Given the description of an element on the screen output the (x, y) to click on. 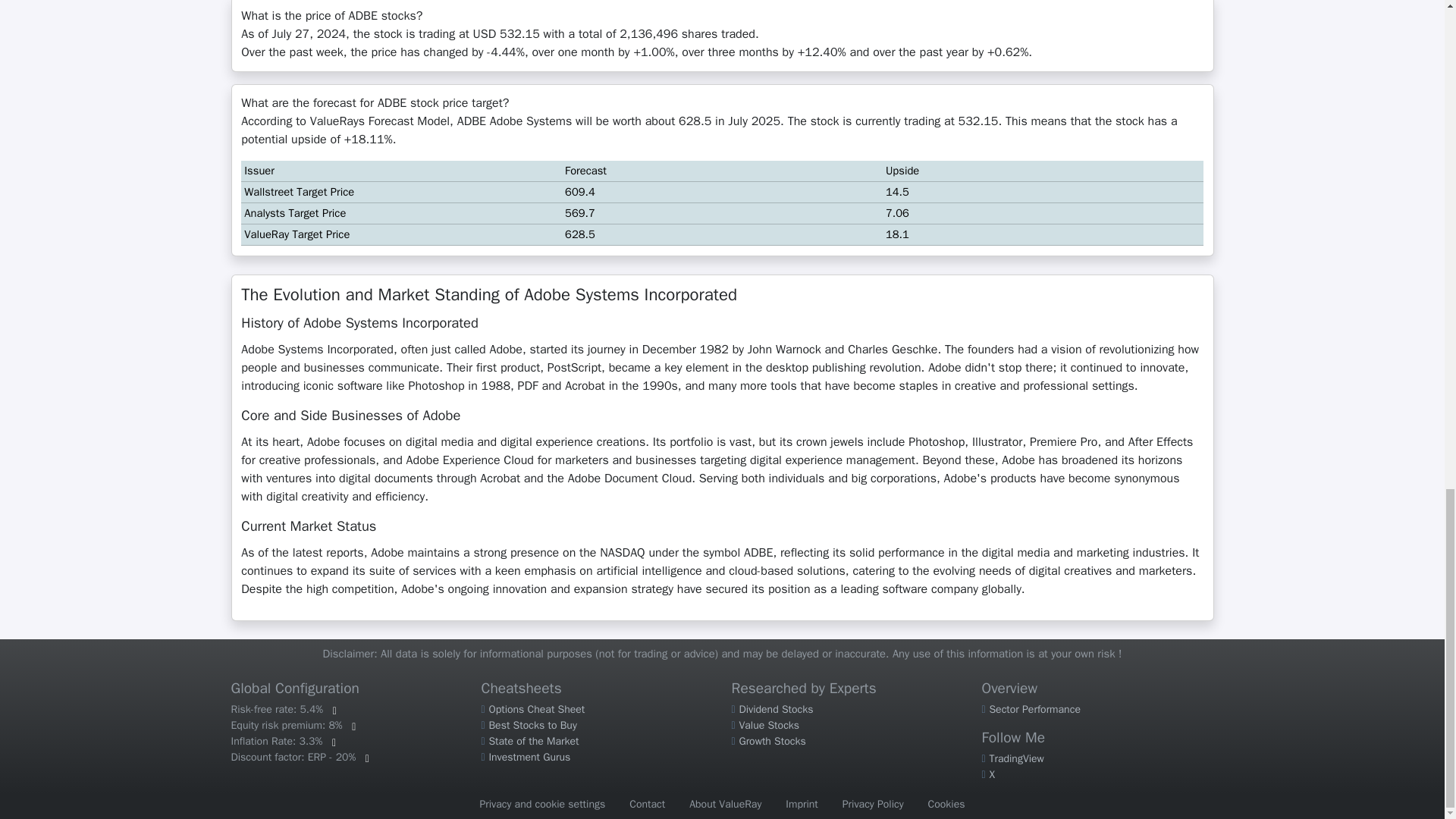
Used in various calculations, like DCF. (283, 740)
Yield of the 3 Month Treasury Bill. (283, 708)
Minimum performance per year we aim for. (292, 725)
